Given the description of an element on the screen output the (x, y) to click on. 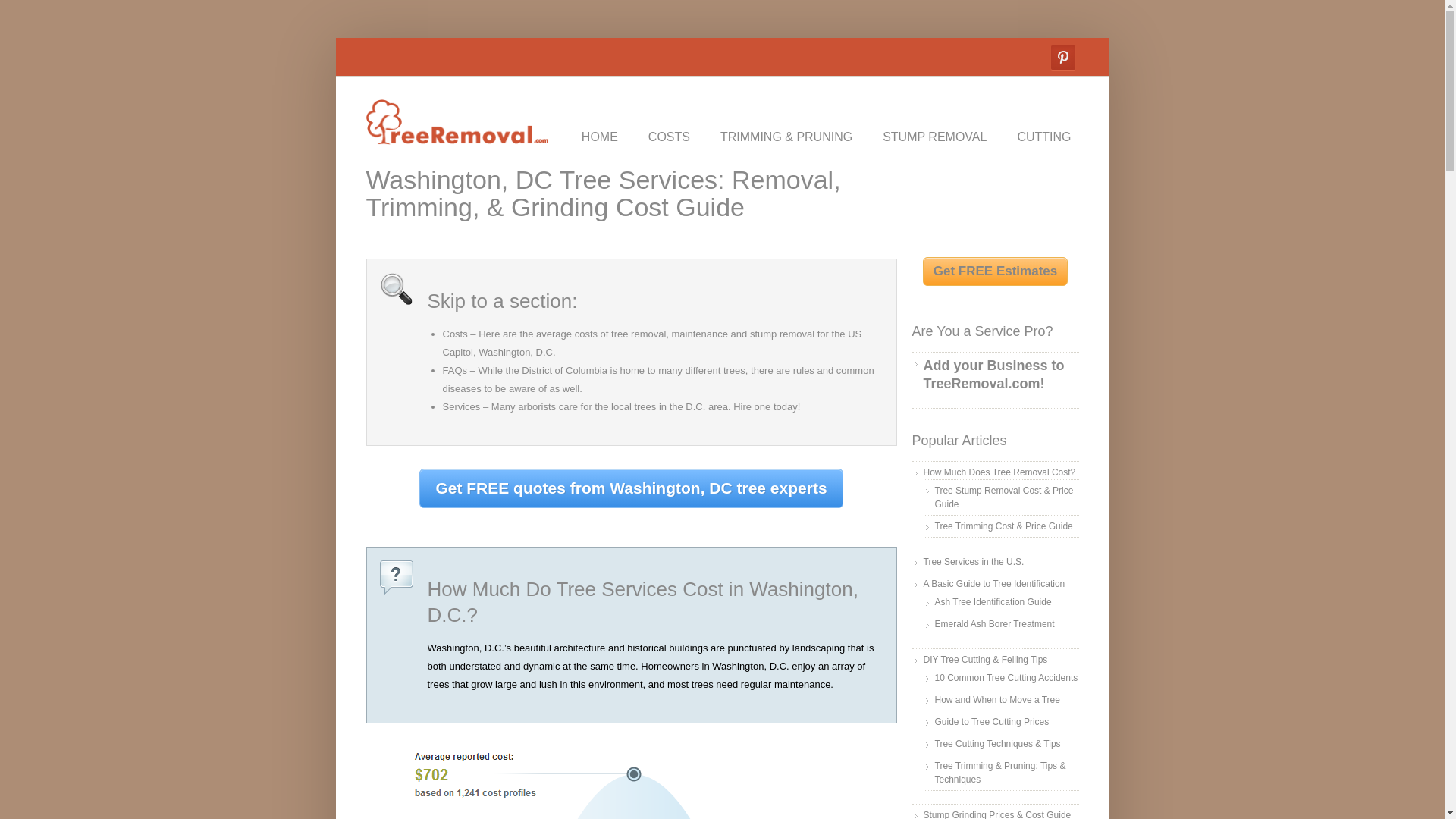
Pinterest (1063, 57)
Tree Removal (456, 135)
Tree Removal Cost Guide (668, 137)
Costs (454, 333)
FAQs (454, 369)
CUTTING (1043, 137)
Tree Cutting (1043, 137)
HOME (599, 137)
Add your Business to TreeRemoval.com! (1000, 374)
How Much Does Tree Removal Cost? (999, 471)
